Given the description of an element on the screen output the (x, y) to click on. 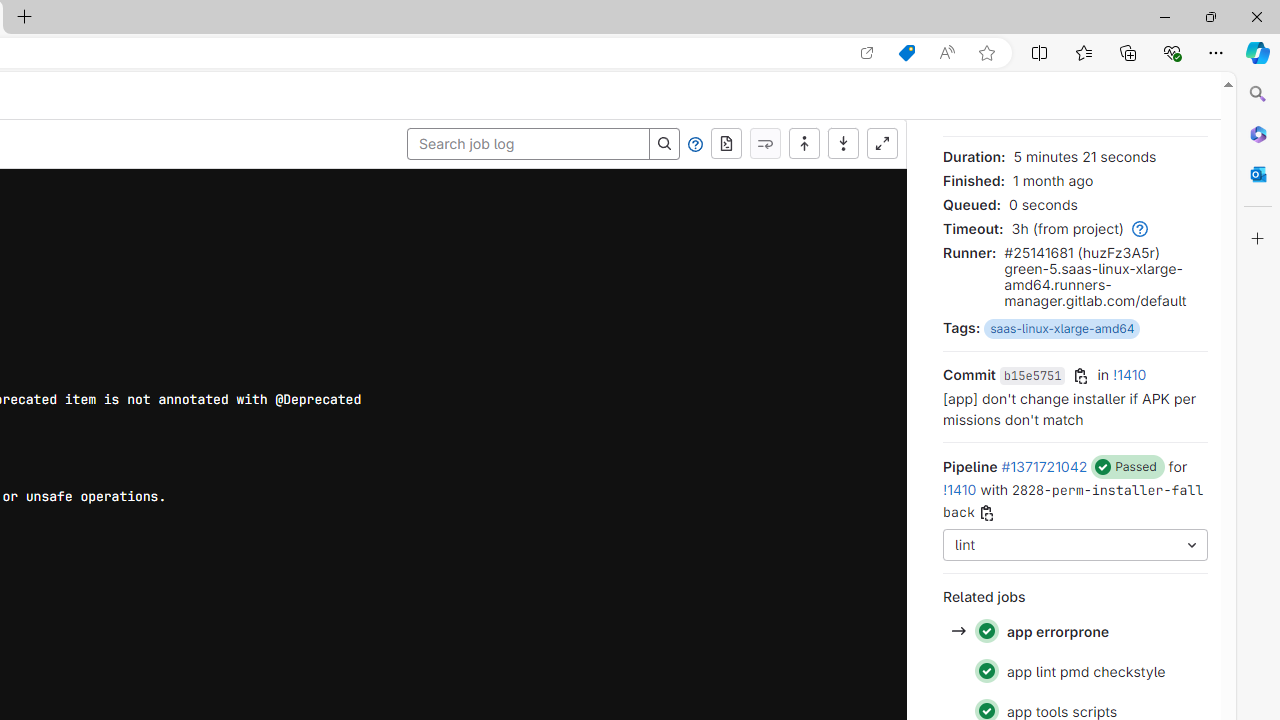
Status: Passed app errorprone (1073, 631)
#1371721042 (1044, 466)
Copy branch name (986, 513)
Scroll to bottom (843, 143)
2828-perm-installer-fallback (1073, 500)
Scroll to top (804, 143)
lint (1075, 545)
Show full screen (882, 143)
!1410 (959, 489)
Status: Passed app lint pmd checkstyle (1073, 670)
Shopping in Microsoft Edge (906, 53)
